Given the description of an element on the screen output the (x, y) to click on. 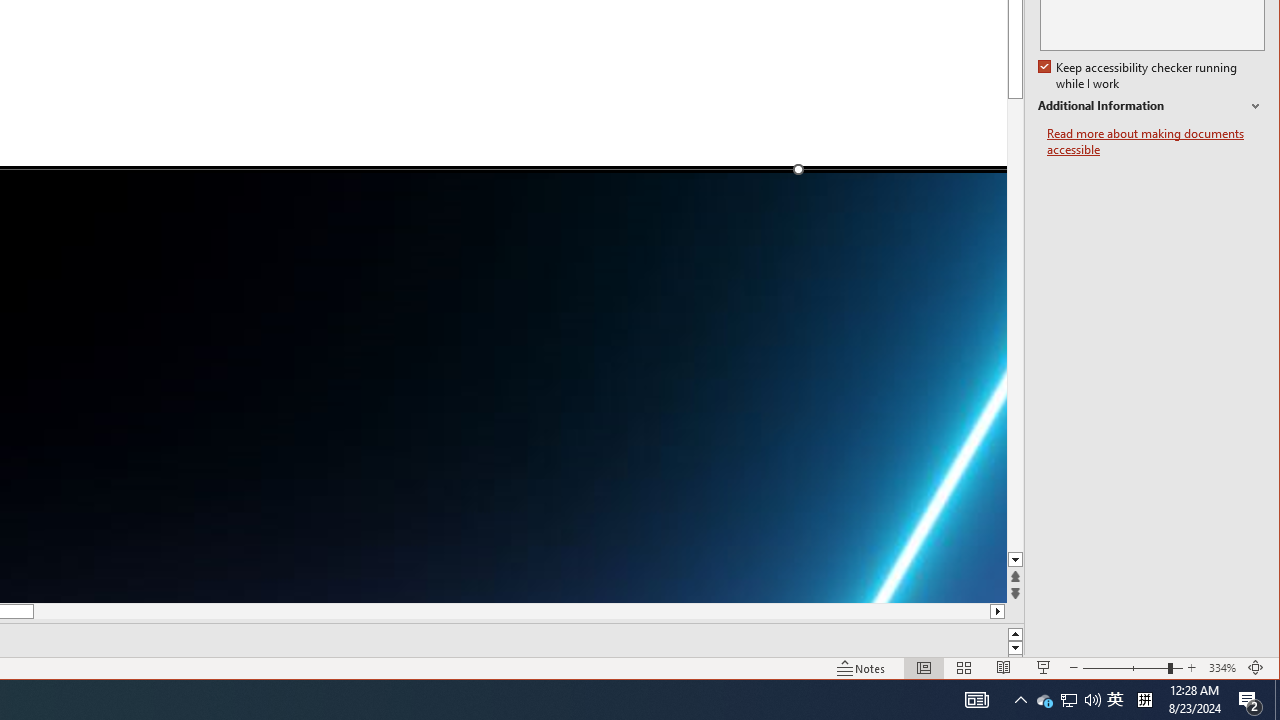
AutomationID: 4105 (976, 699)
Zoom 334% (1222, 668)
User Promoted Notification Area (1068, 699)
Q2790: 100% (1092, 699)
Line down (1015, 560)
Show desktop (1277, 699)
Page down (1015, 342)
Action Center, 2 new notifications (1250, 699)
Keep accessibility checker running while I work (1139, 76)
